Given the description of an element on the screen output the (x, y) to click on. 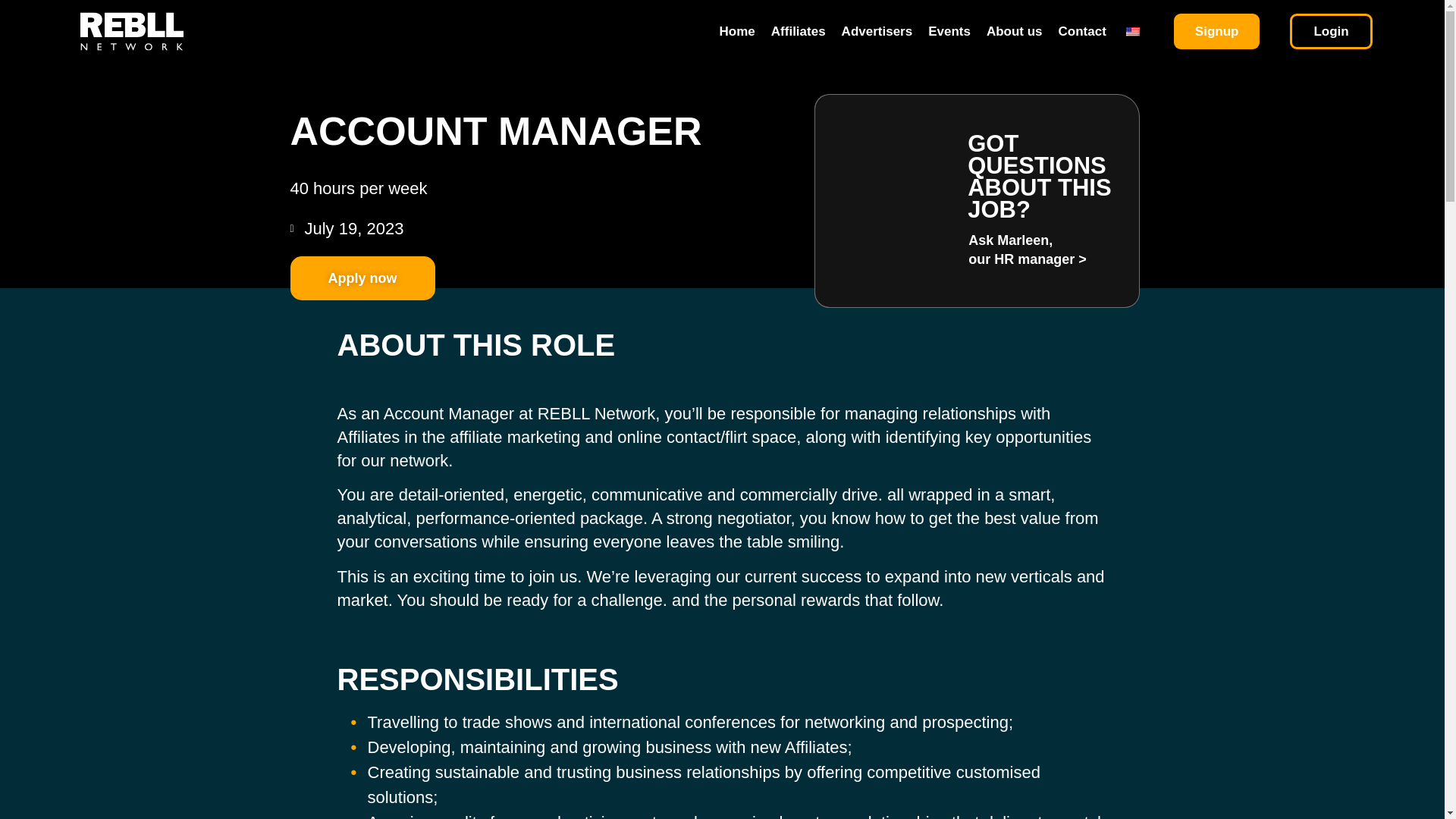
About us (1014, 31)
Contact (1082, 31)
Login (1330, 31)
Home (737, 31)
Advertisers (876, 31)
Logo REBLL svg (131, 31)
REBLL Network (596, 413)
Affiliates (798, 31)
Apply now (361, 278)
Events (949, 31)
